Given the description of an element on the screen output the (x, y) to click on. 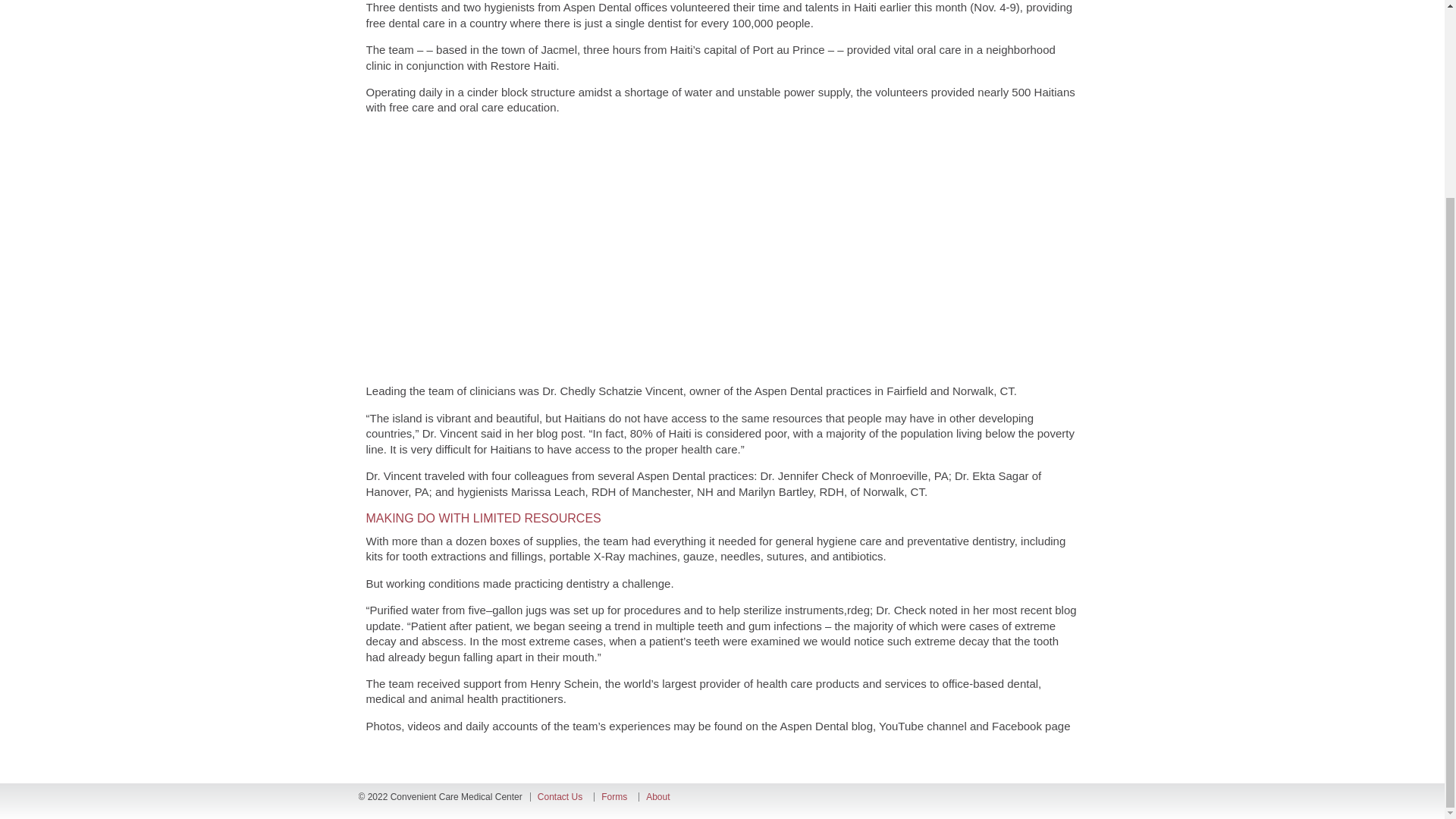
Contact Us (559, 796)
Forms (614, 796)
About (657, 796)
